Given the description of an element on the screen output the (x, y) to click on. 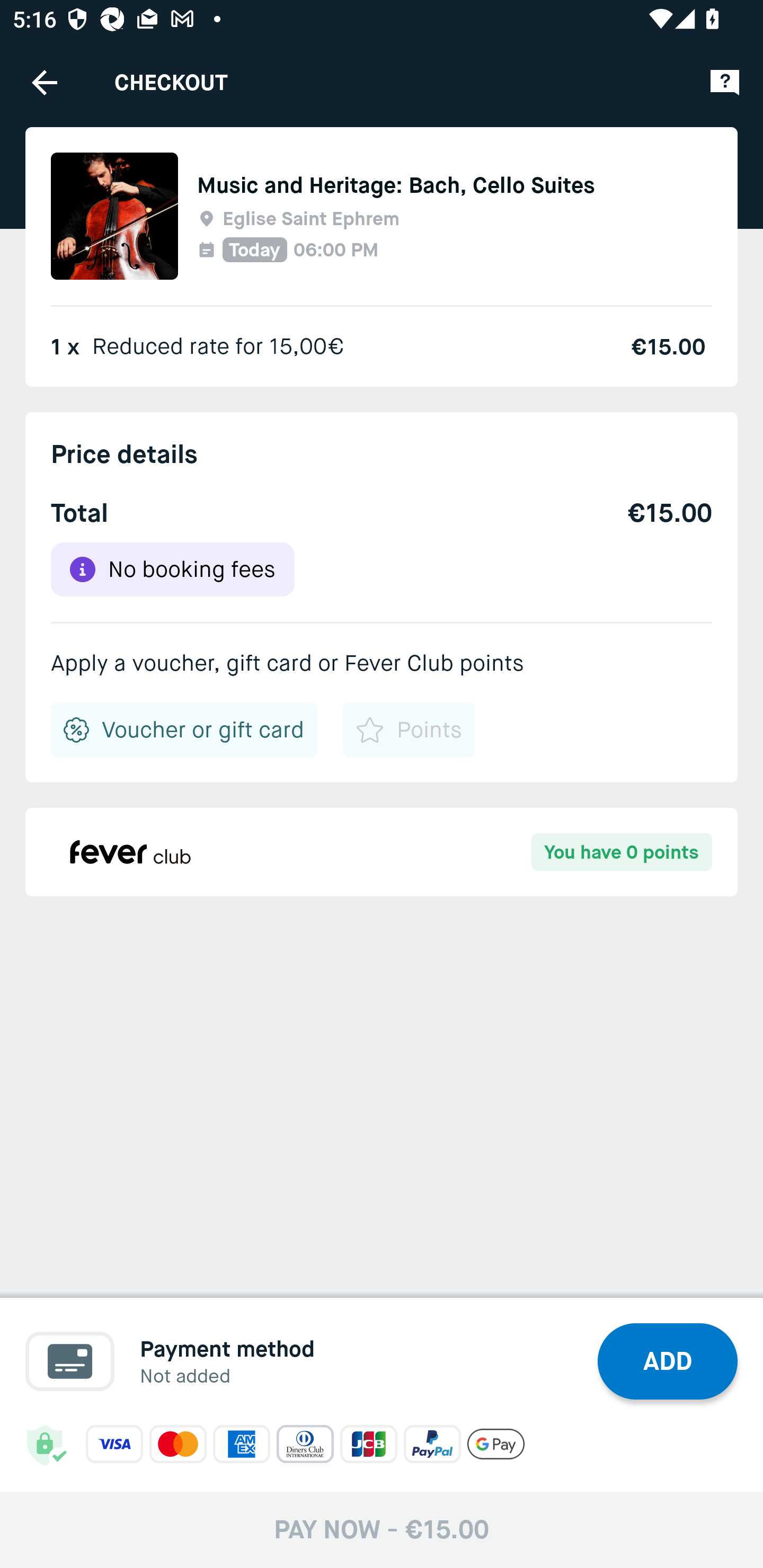
Navigate up (44, 82)
Help (724, 81)
Voucher or gift card (184, 729)
Points (408, 729)
ADD (667, 1361)
PAY NOW - €15.00 (381, 1529)
